Given the description of an element on the screen output the (x, y) to click on. 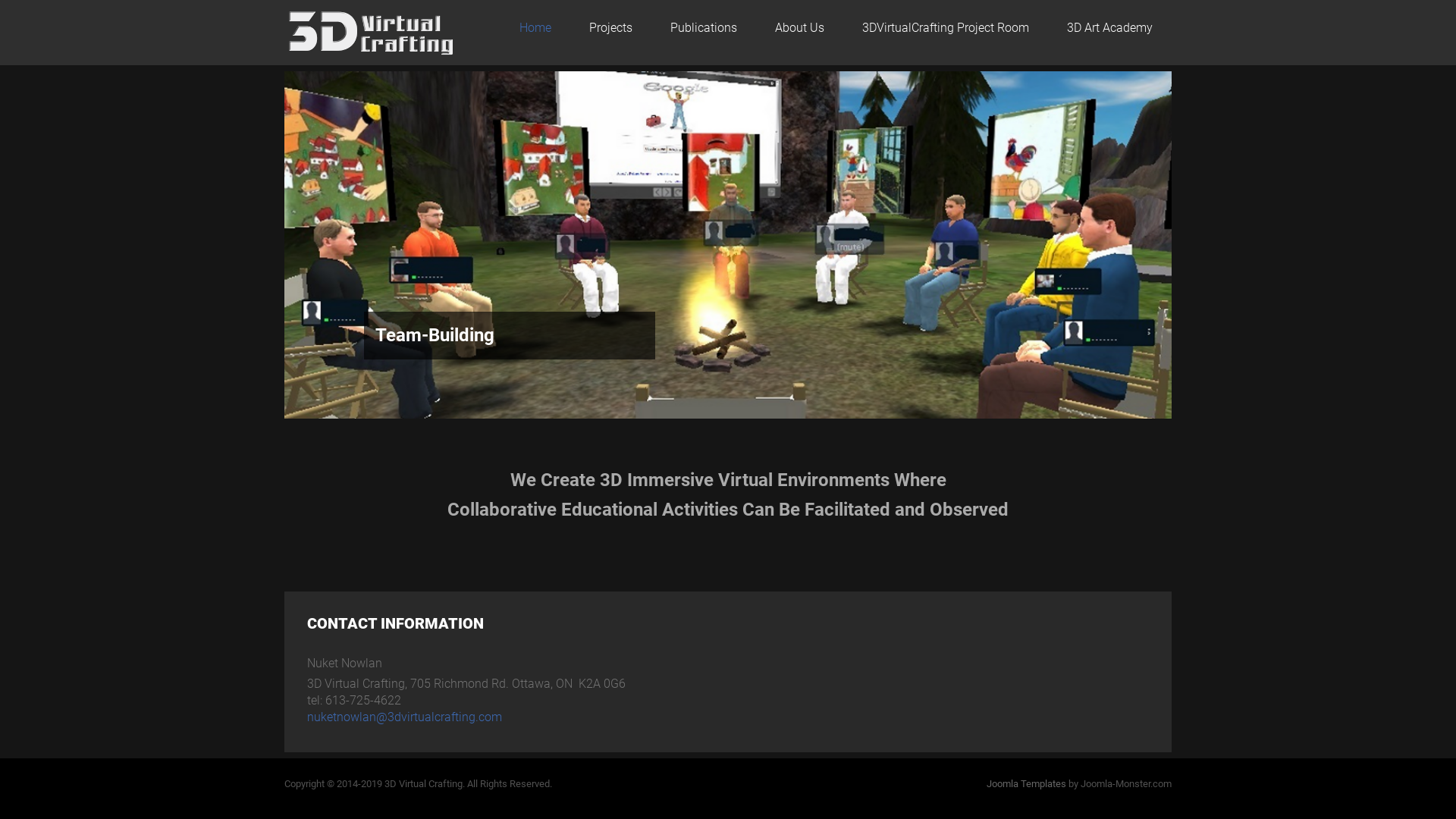
Joomla Templates Element type: text (1026, 783)
nuketnowlan@3dvirtualcrafting.com Element type: text (404, 716)
Publications Element type: text (703, 27)
Team-Building Element type: text (434, 334)
3DVirtualCrafting Project Room Element type: text (945, 27)
Home Element type: text (535, 27)
3D Art Academy Element type: text (1109, 27)
Projects Element type: text (610, 27)
About Us Element type: text (799, 27)
